Given the description of an element on the screen output the (x, y) to click on. 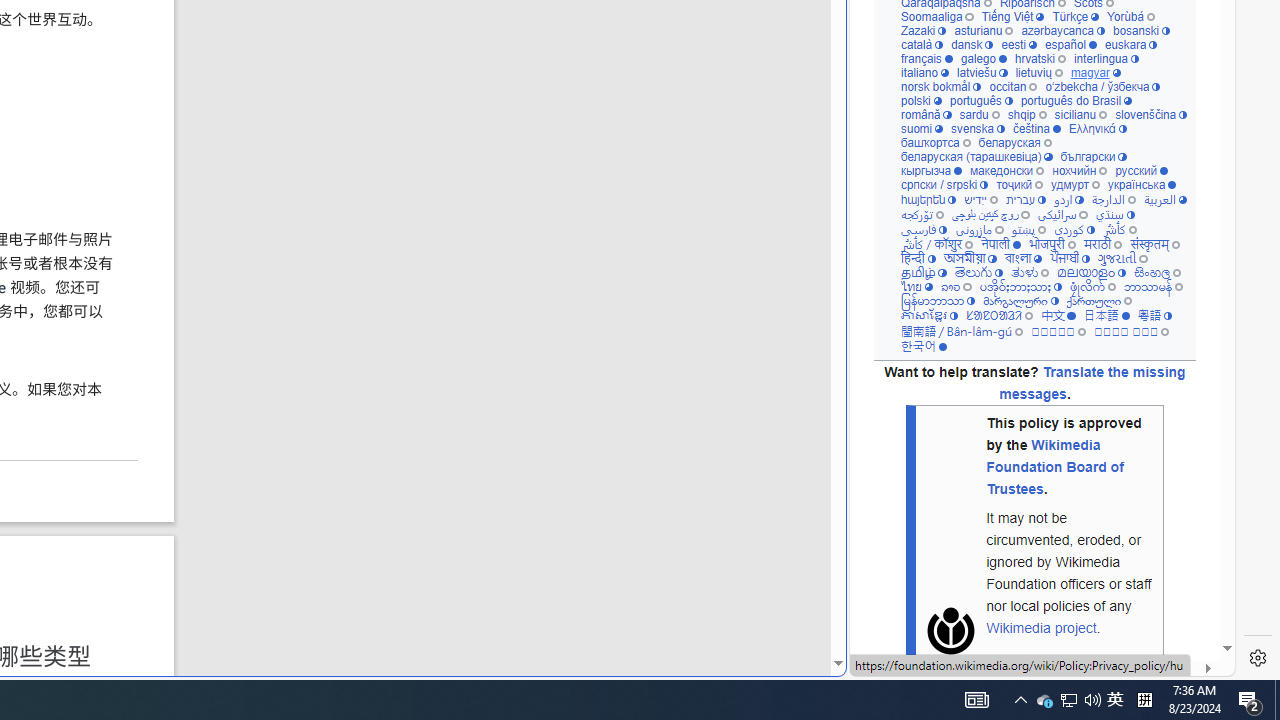
bosanski (1141, 30)
bosanski (1141, 30)
suomi (921, 128)
